Given the description of an element on the screen output the (x, y) to click on. 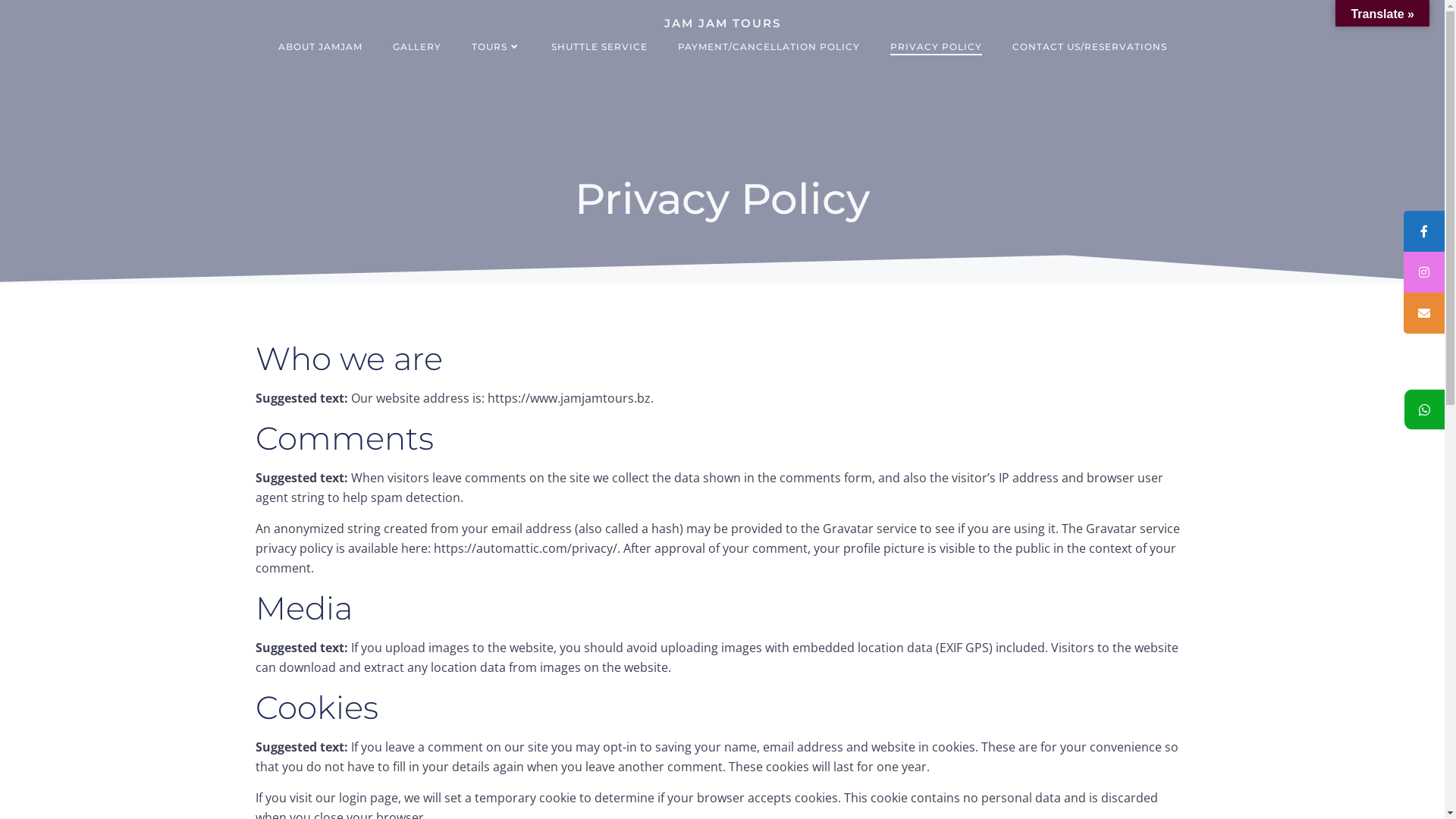
ABOUT JAMJAM Element type: text (319, 46)
CONTACT US/RESERVATIONS Element type: text (1088, 46)
WhatsApp Element type: hover (1424, 409)
JAM JAM TOURS Element type: text (722, 23)
SHUTTLE SERVICE Element type: text (598, 46)
TOURS Element type: text (495, 46)
PRIVACY POLICY Element type: text (936, 46)
GALLERY Element type: text (416, 46)
PAYMENT/CANCELLATION POLICY Element type: text (768, 46)
